Given the description of an element on the screen output the (x, y) to click on. 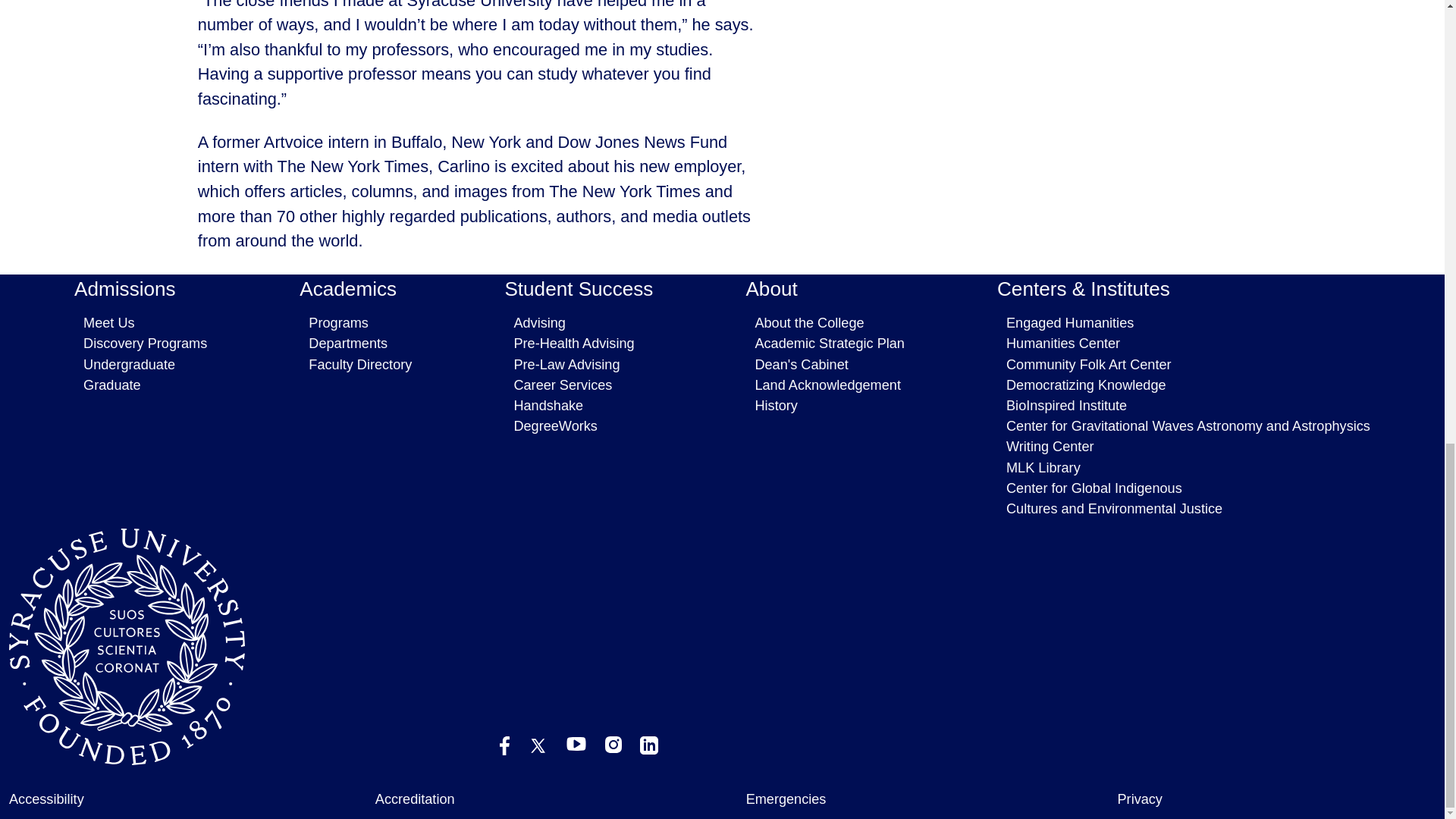
Connect with Arts and Sciences on LinkedIn (649, 745)
Follow Arts and Sciences on Instagram (613, 744)
Subscribe to Arts and Sciences on YouTube (576, 744)
